Given the description of an element on the screen output the (x, y) to click on. 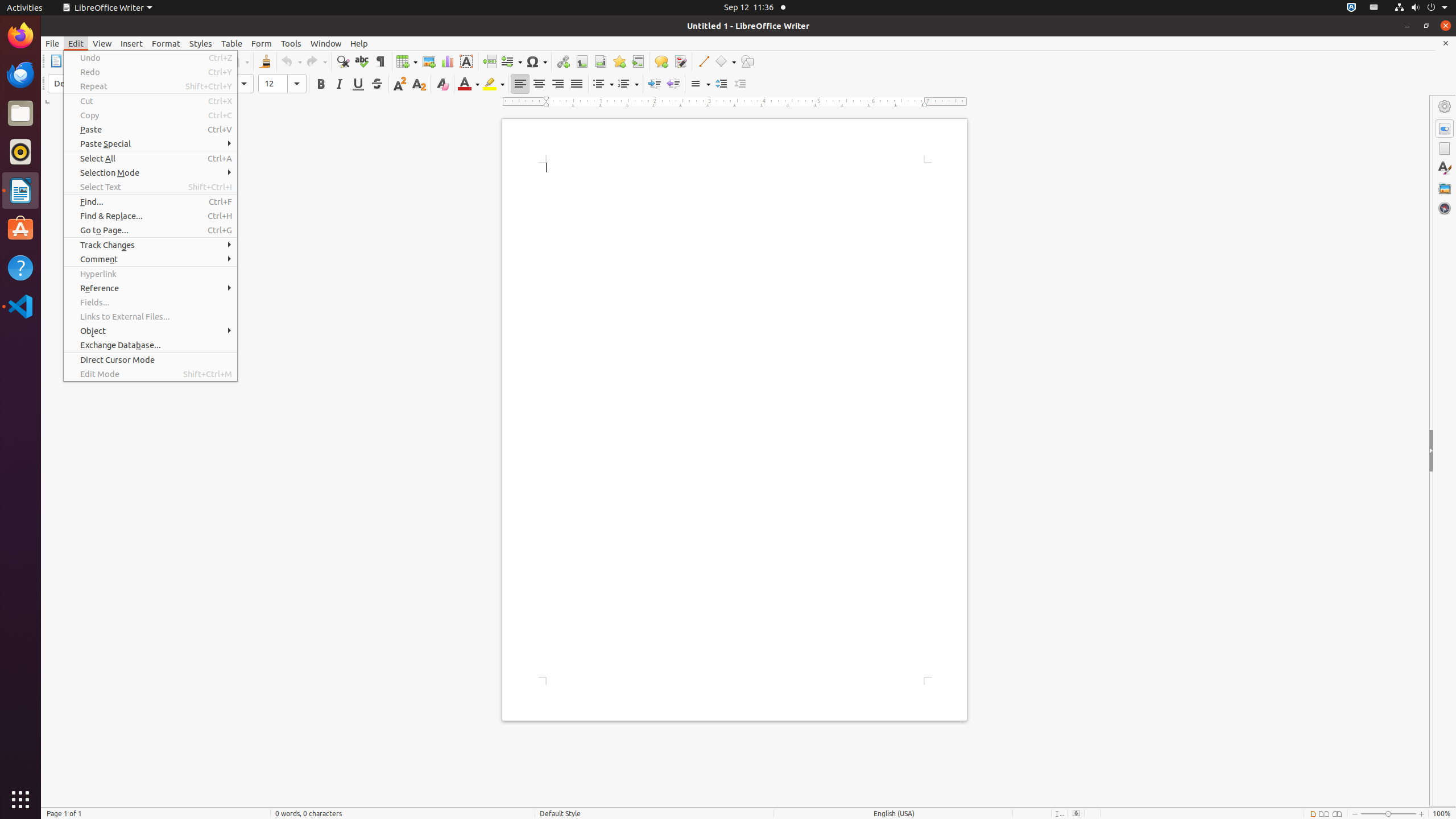
Window Element type: menu (325, 43)
Comment Element type: menu (150, 258)
Font Color Element type: push-button (468, 83)
Superscript Element type: toggle-button (399, 83)
Table Element type: push-button (406, 61)
